Given the description of an element on the screen output the (x, y) to click on. 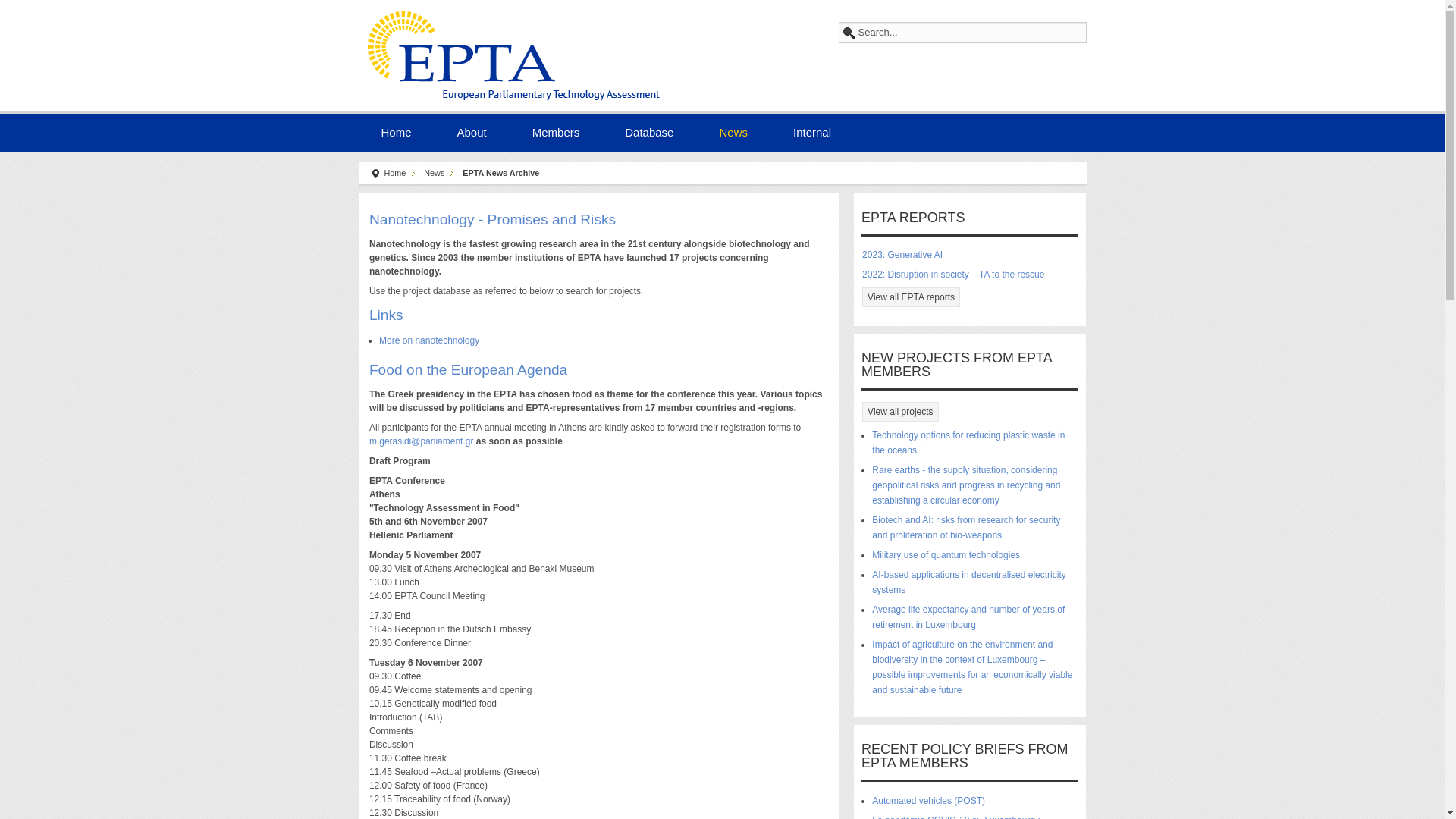
EPTA Reports (910, 297)
Members (555, 131)
Search... (962, 32)
About (471, 131)
Search... (962, 32)
Home (395, 131)
Database (648, 131)
You are here:  (374, 173)
